Given the description of an element on the screen output the (x, y) to click on. 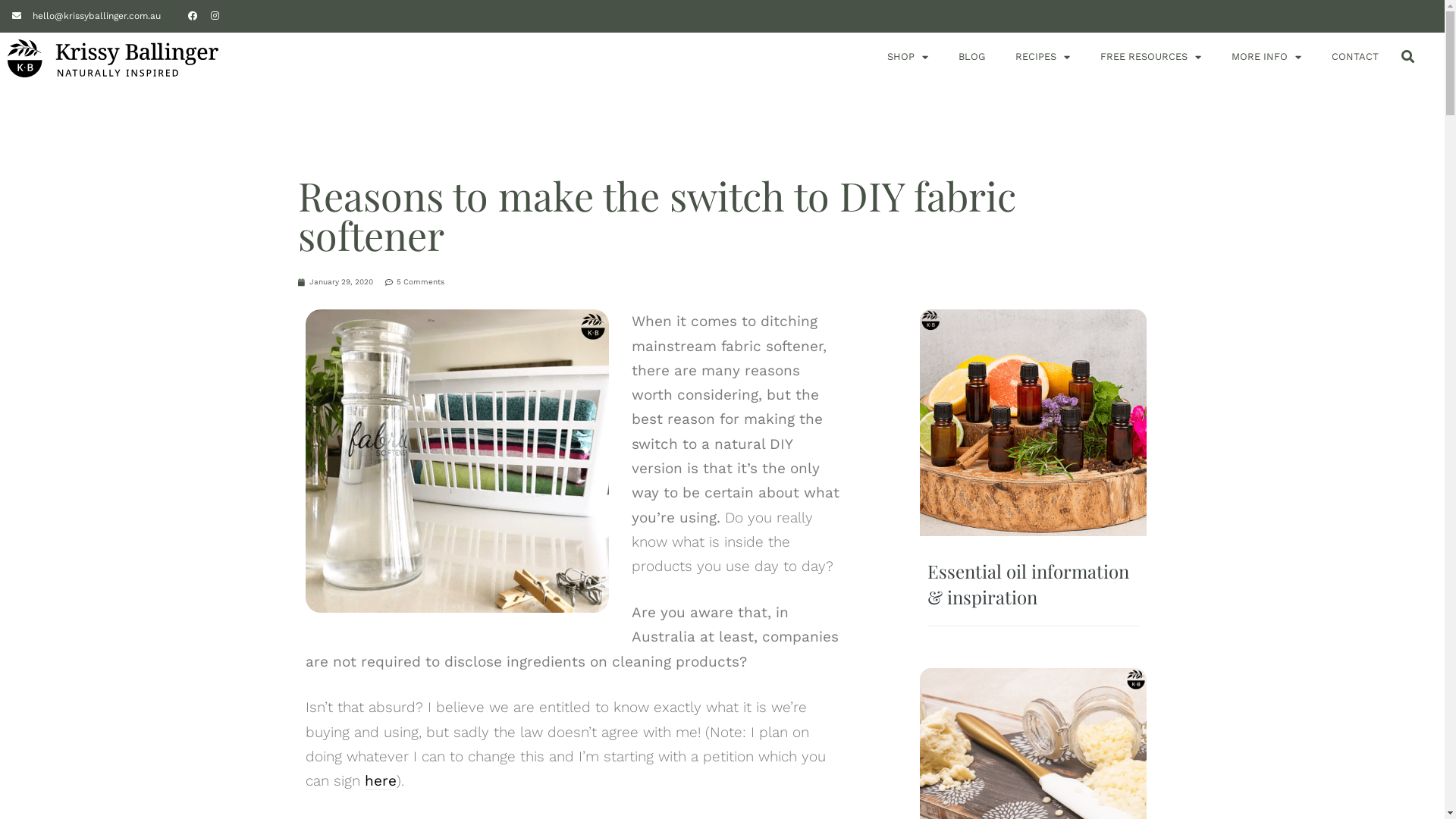
5 Comments Element type: text (414, 281)
here Element type: text (379, 780)
Essential oil information & inspiration Element type: text (1028, 583)
hello@krissyballinger.com.au Element type: text (86, 15)
RECIPES Element type: text (1042, 56)
CONTACT Element type: text (1354, 56)
FREE RESOURCES Element type: text (1150, 56)
SHOP Element type: text (907, 56)
BLOG Element type: text (971, 56)
Post Comment Element type: text (50, 14)
MORE INFO Element type: text (1266, 56)
January 29, 2020 Element type: text (334, 281)
